Given the description of an element on the screen output the (x, y) to click on. 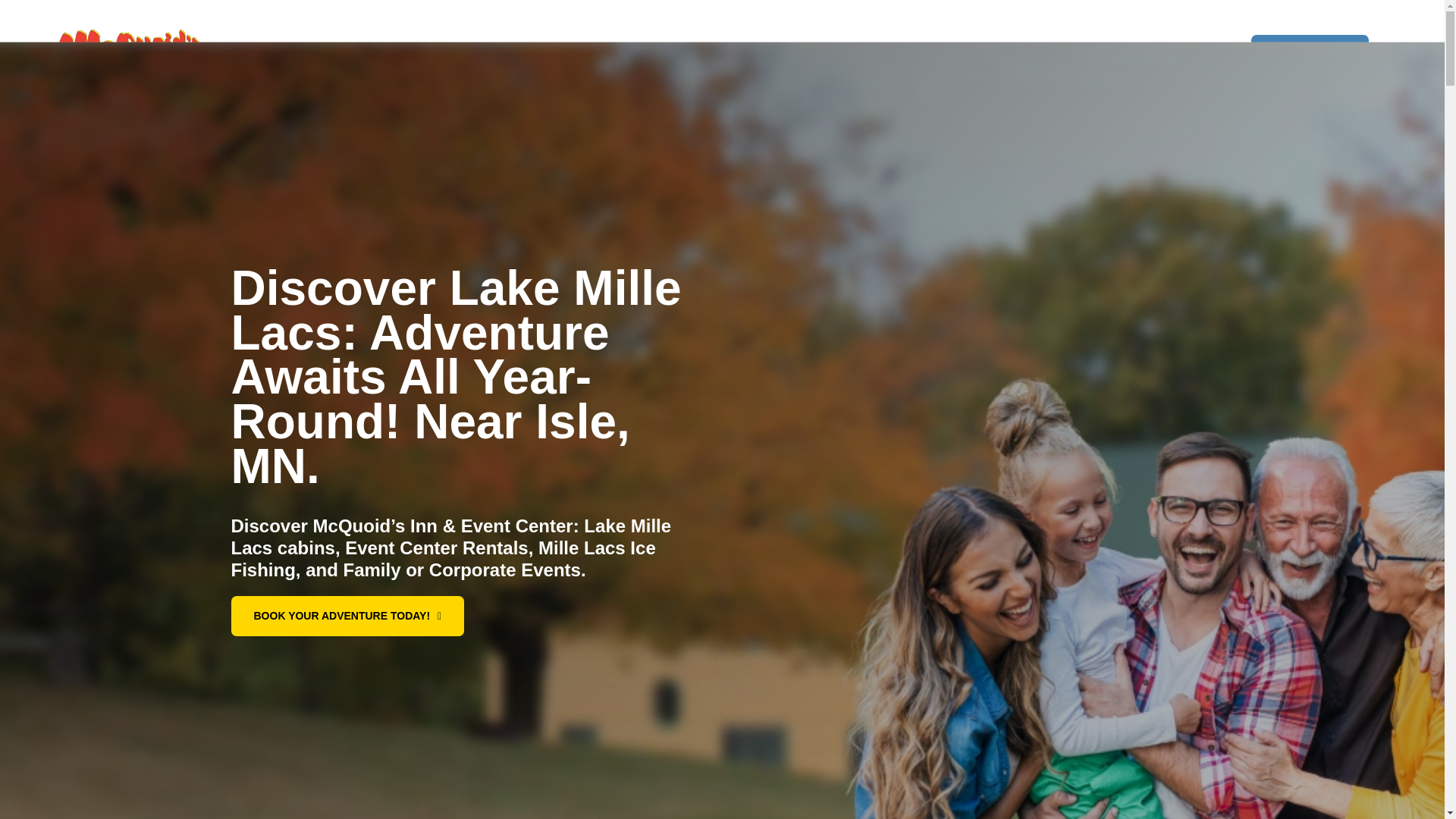
Lodging (517, 54)
Home (441, 54)
Activities (680, 54)
BOOK YOUR ADVENTURE TODAY! (347, 616)
Area Attractions (902, 54)
Event Center (781, 54)
Contact (1008, 54)
Fishing (598, 54)
BOOK NOW (1309, 55)
